Given the description of an element on the screen output the (x, y) to click on. 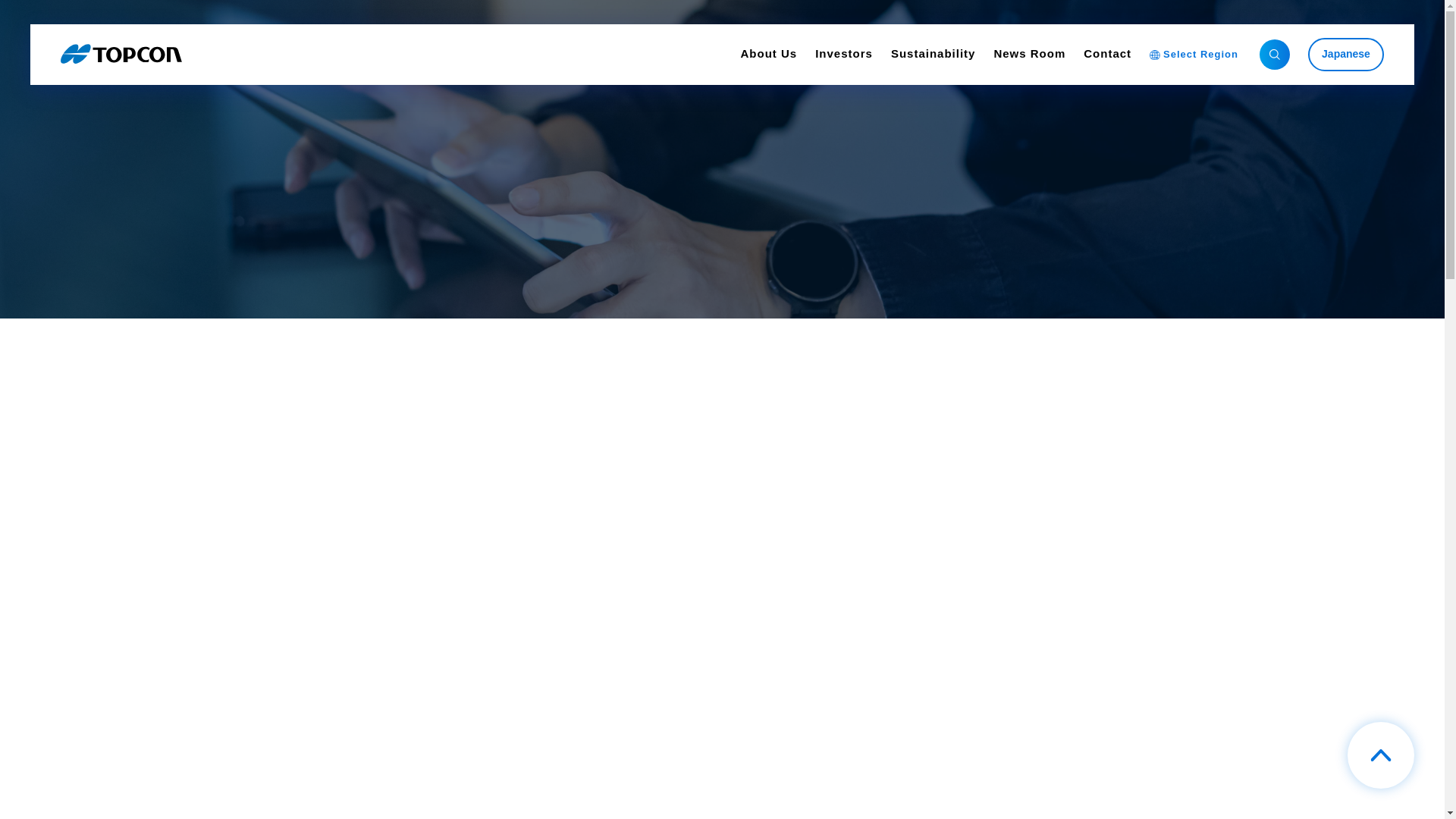
News Room (1028, 54)
Sustainability (933, 54)
Select Region (1194, 54)
About Us (767, 54)
Investors (843, 54)
Japanese (1345, 54)
TOPCON (121, 54)
Investors (843, 54)
About Us (767, 54)
